Given the description of an element on the screen output the (x, y) to click on. 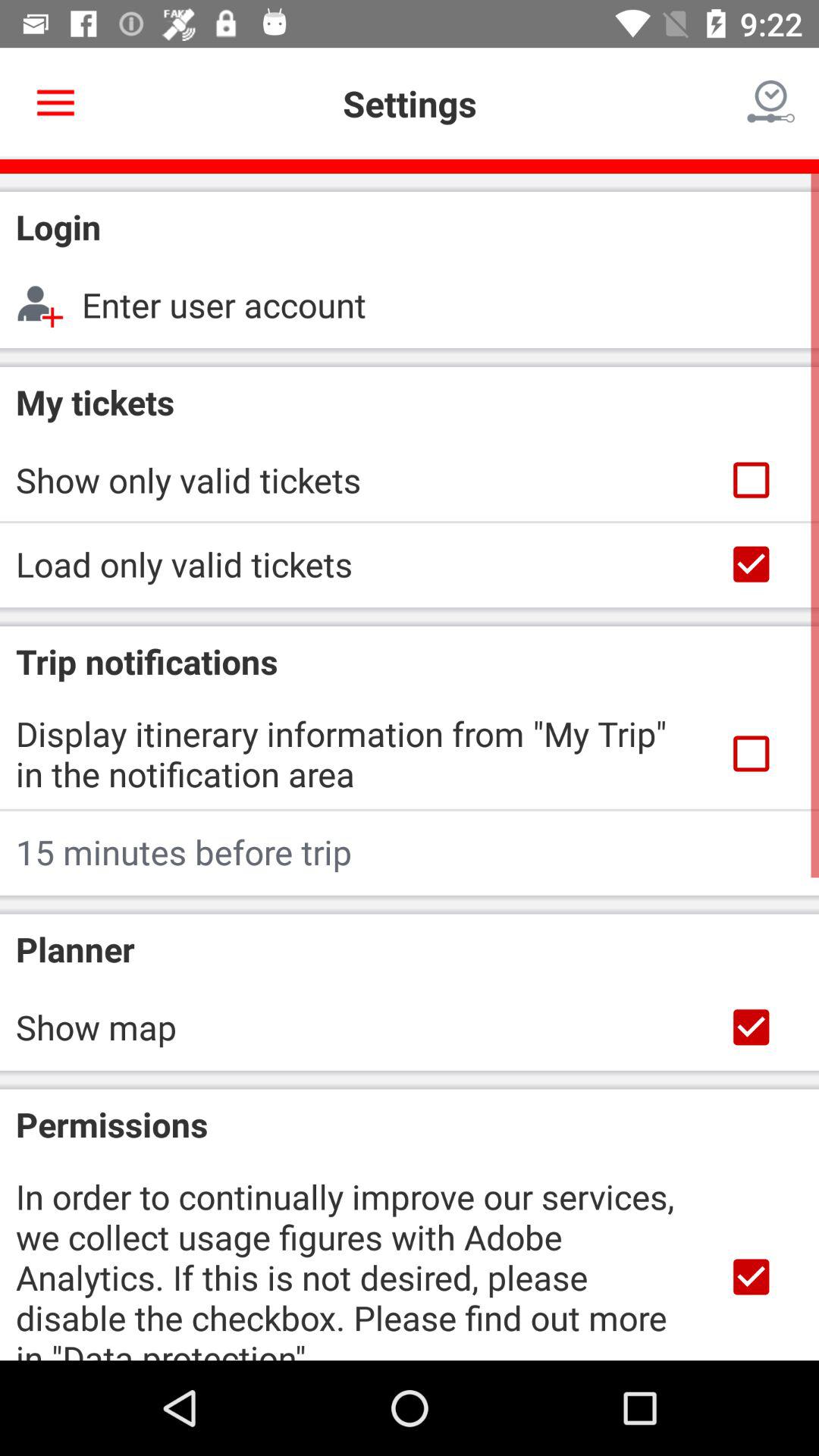
click on the add person icon (48, 304)
